Given the description of an element on the screen output the (x, y) to click on. 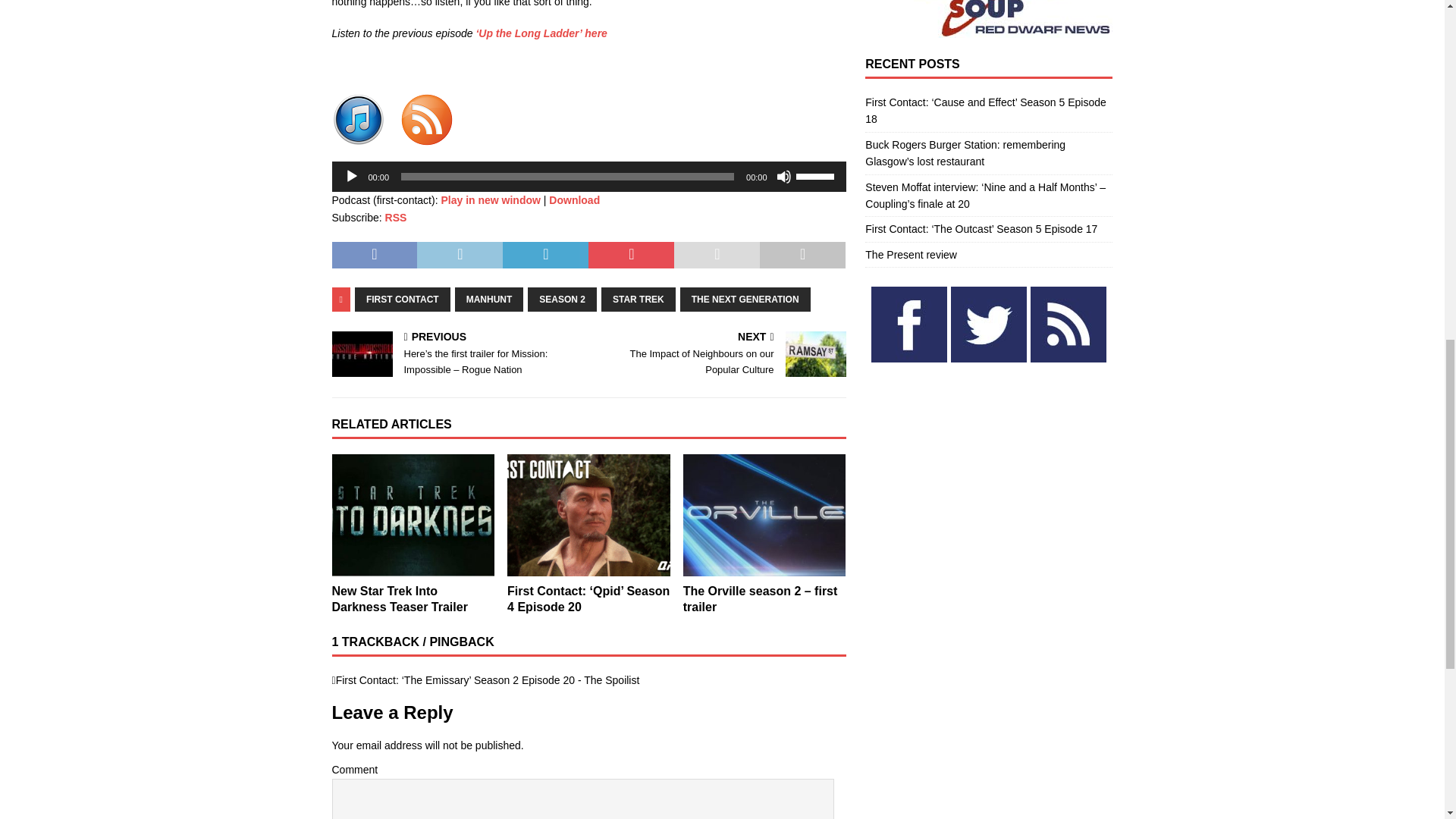
Play (351, 176)
Download (573, 200)
Up the Long Ladder (541, 33)
Subscribe via RSS (396, 217)
Play in new window (490, 200)
Mute (784, 176)
